Given the description of an element on the screen output the (x, y) to click on. 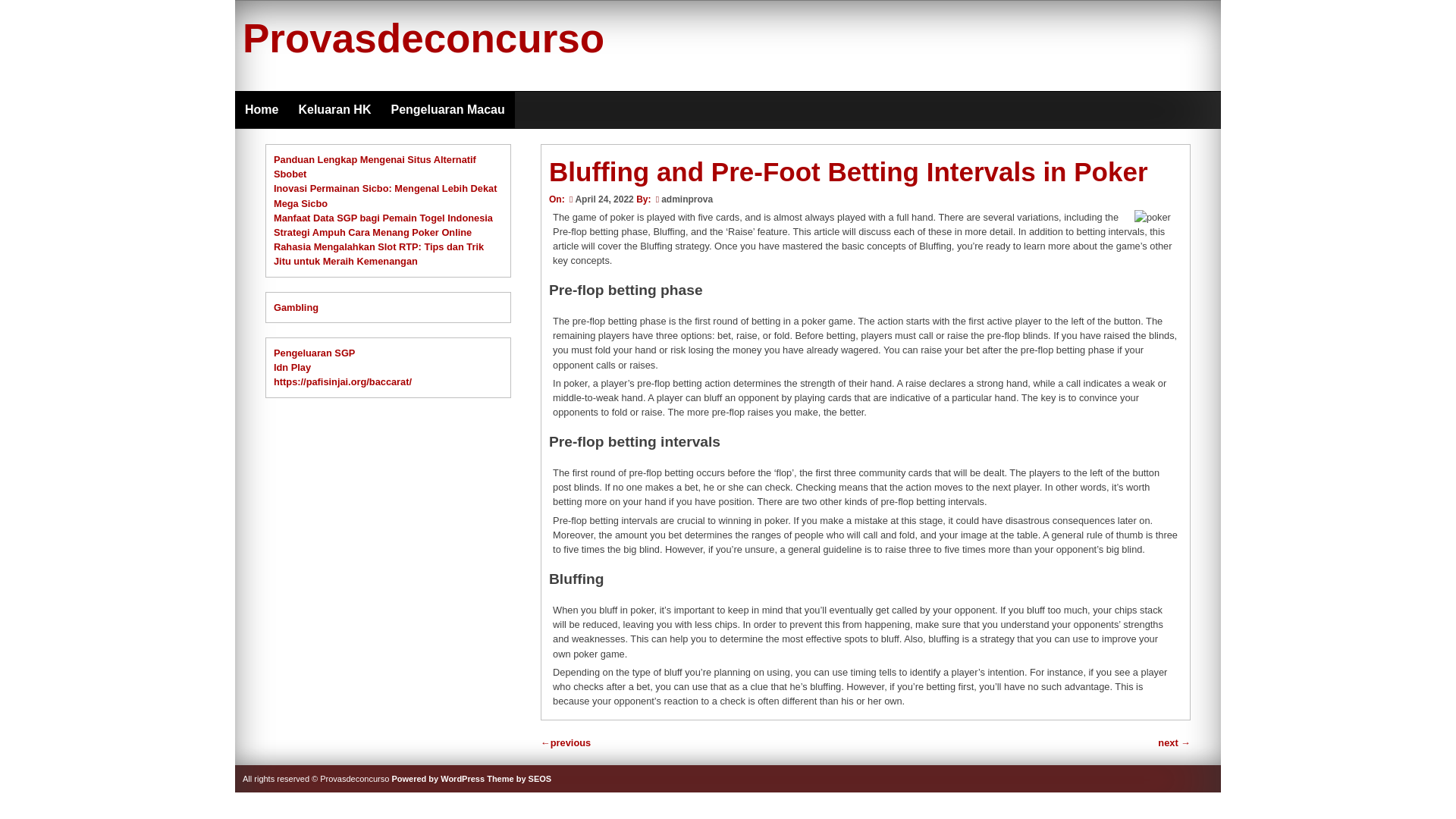
Home (261, 109)
adminprova (687, 199)
Keluaran HK (334, 109)
Manfaat Data SGP bagi Pemain Togel Indonesia (383, 217)
Seos free wordpress themes (518, 777)
Powered by WordPress (437, 777)
April 24, 2022 (600, 199)
Idn Play (292, 367)
Strategi Ampuh Cara Menang Poker Online (372, 232)
